Given the description of an element on the screen output the (x, y) to click on. 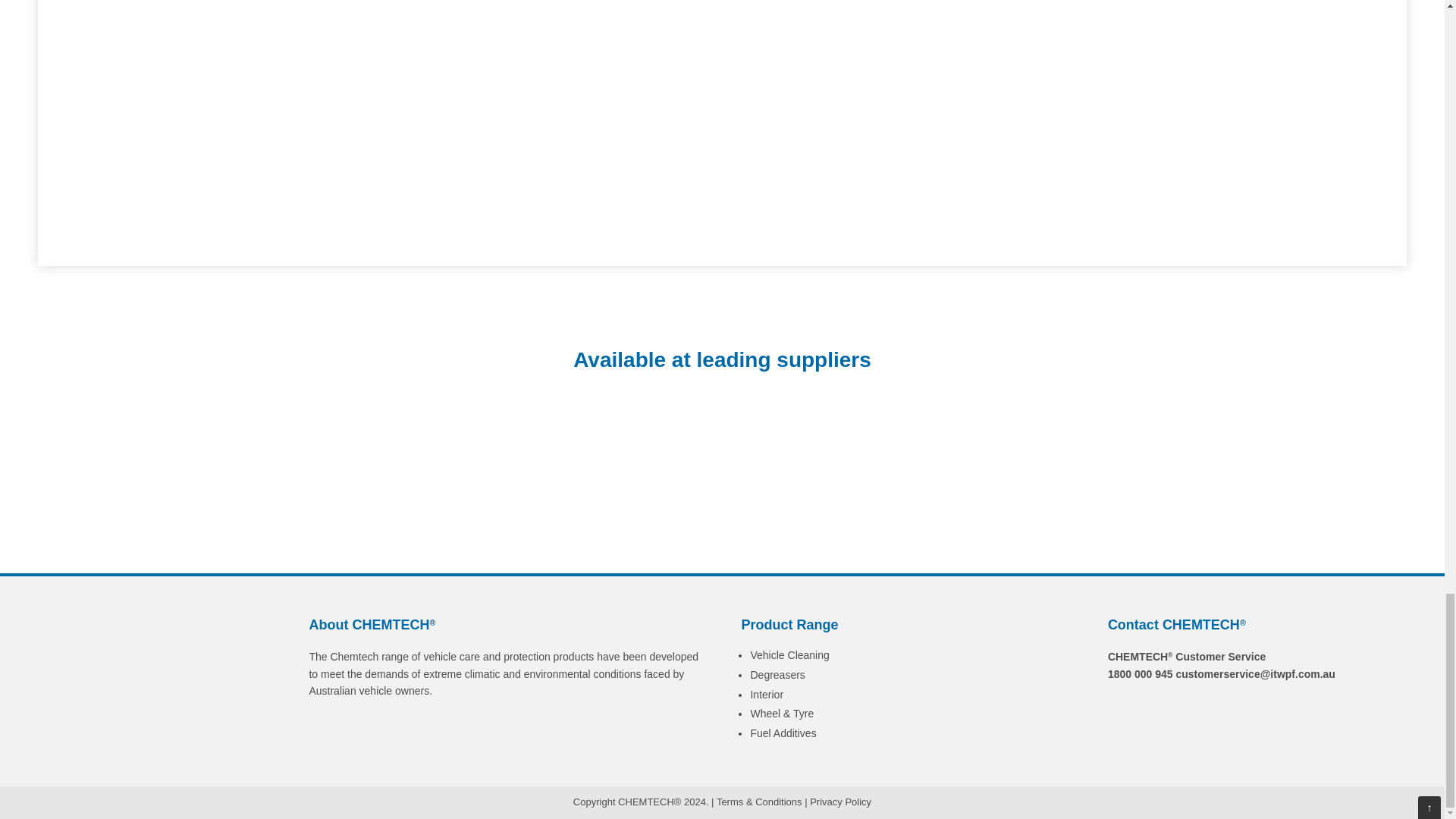
Privacy Policy (839, 801)
Degreasers (777, 674)
Interior (766, 693)
Fuel Additives (782, 733)
Vehicle Cleaning (788, 654)
1800 000 945 (1140, 674)
